Given the description of an element on the screen output the (x, y) to click on. 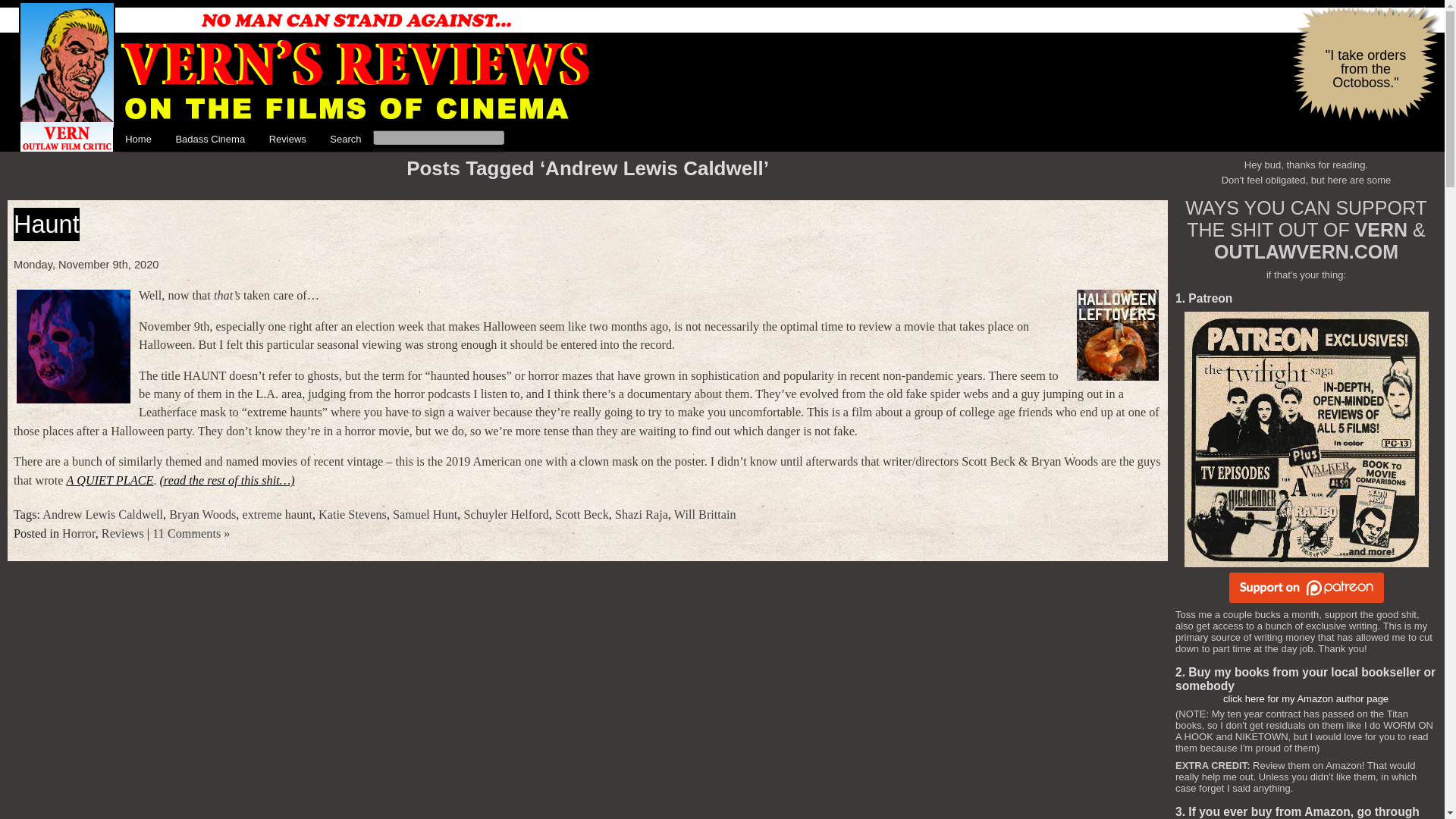
Permanent Link to Haunt (46, 224)
Home (138, 139)
